Given the description of an element on the screen output the (x, y) to click on. 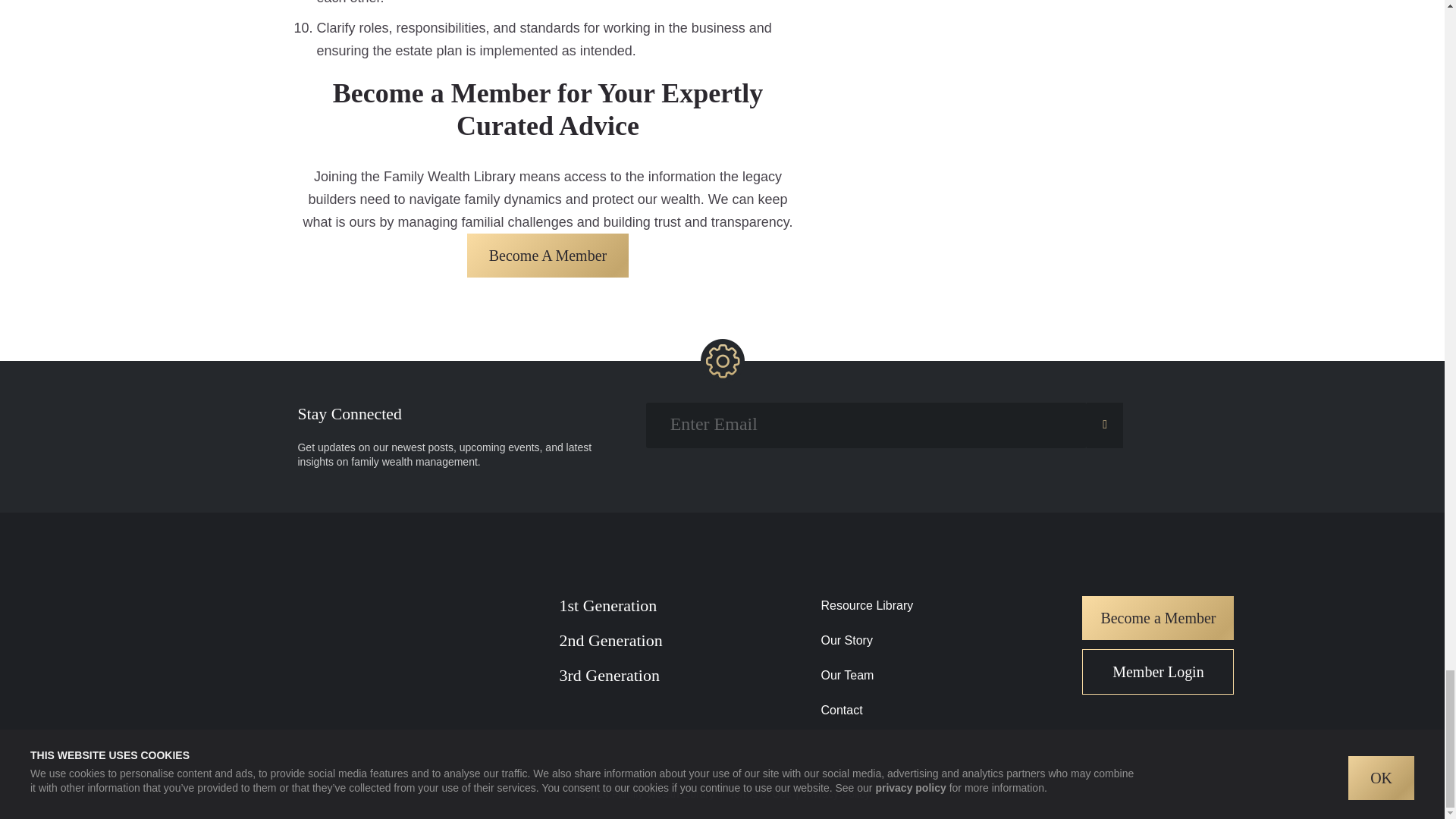
Become A Member (547, 255)
